Given the description of an element on the screen output the (x, y) to click on. 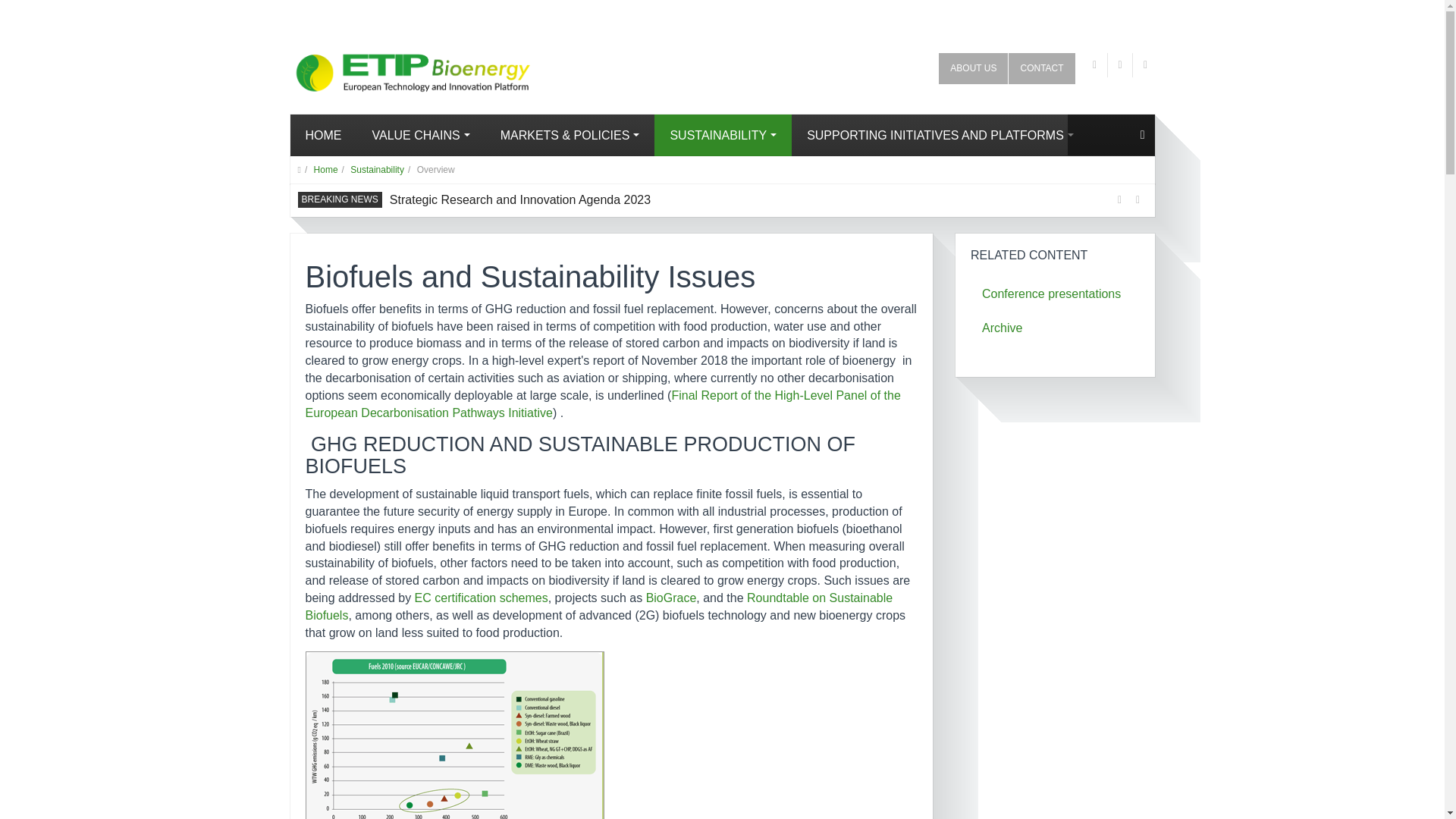
ETIP Bioenergy-SABS (384, 66)
CONTACT (1041, 68)
YouTube (1120, 64)
Twitter (1094, 64)
Linkedin (1144, 64)
ABOUT US (973, 68)
